Given the description of an element on the screen output the (x, y) to click on. 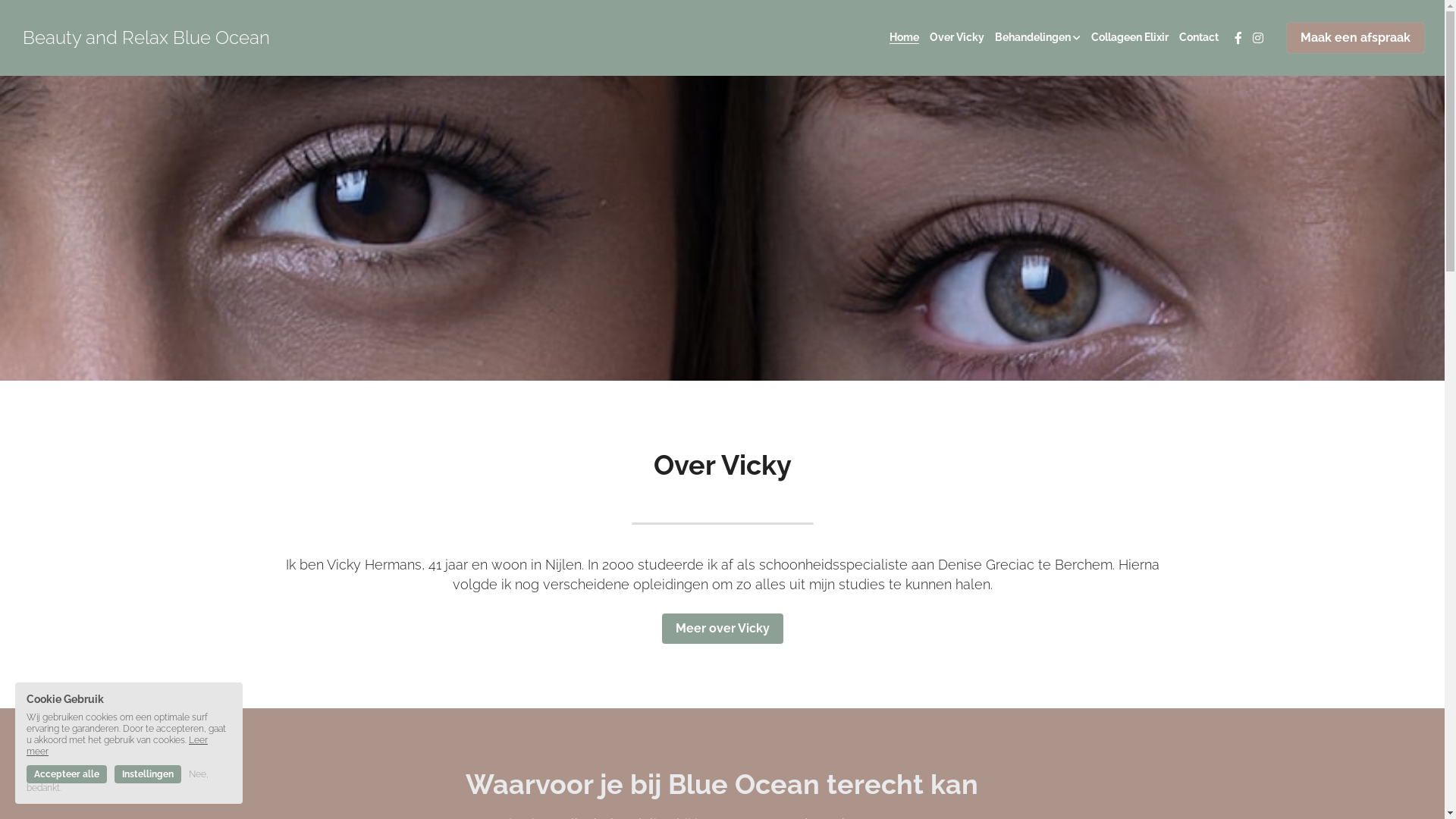
Maak een afspraak Element type: text (1355, 37)
Meer over Vicky Element type: text (721, 628)
Over Vicky Element type: text (956, 37)
Beauty and Relax Blue Ocean Element type: text (145, 37)
Leer meer Element type: text (116, 745)
Contact Element type: text (1198, 37)
Home Element type: text (904, 37)
Collageen Elixir Element type: text (1129, 37)
